Given the description of an element on the screen output the (x, y) to click on. 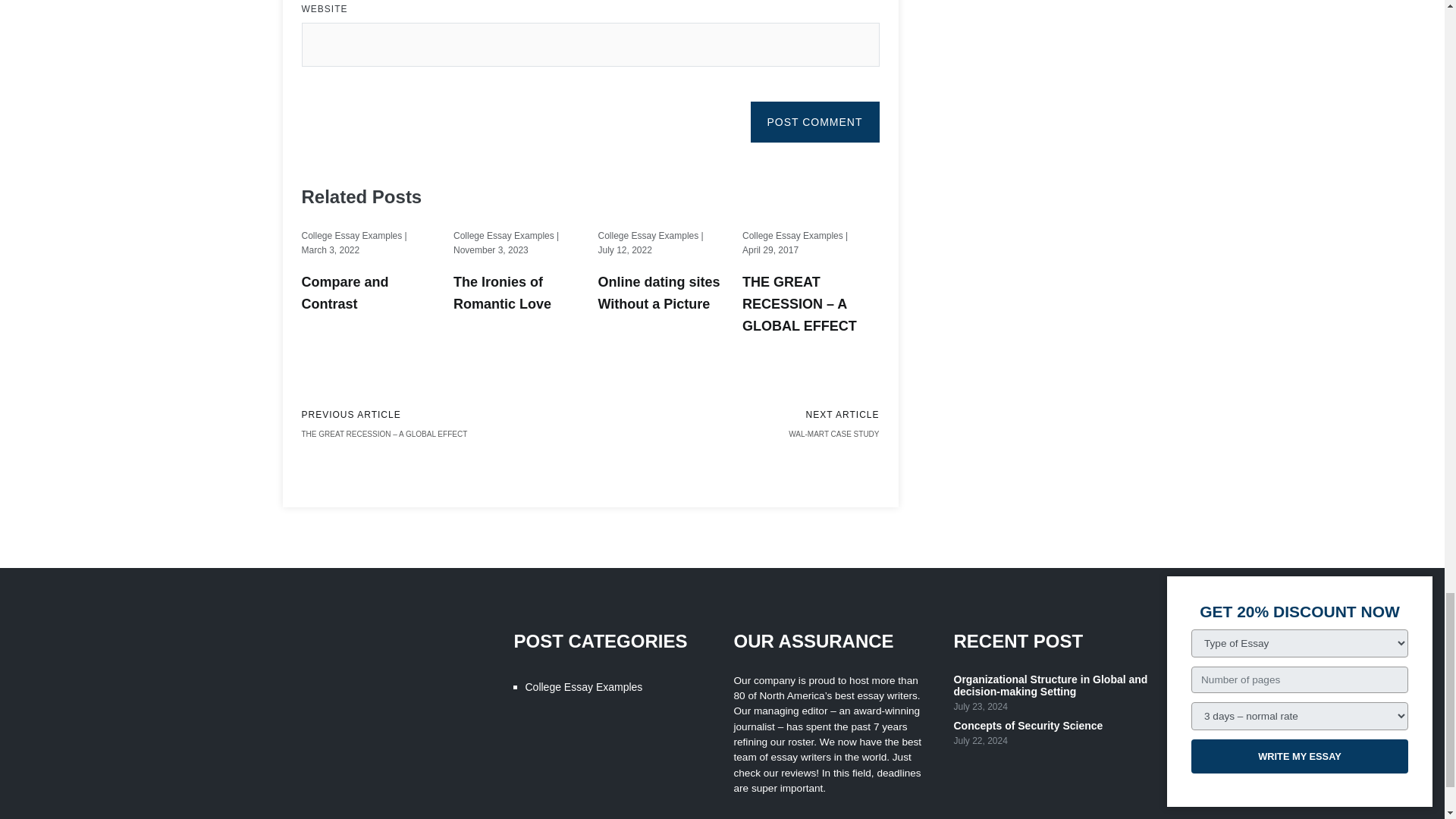
Post Comment (815, 121)
